Given the description of an element on the screen output the (x, y) to click on. 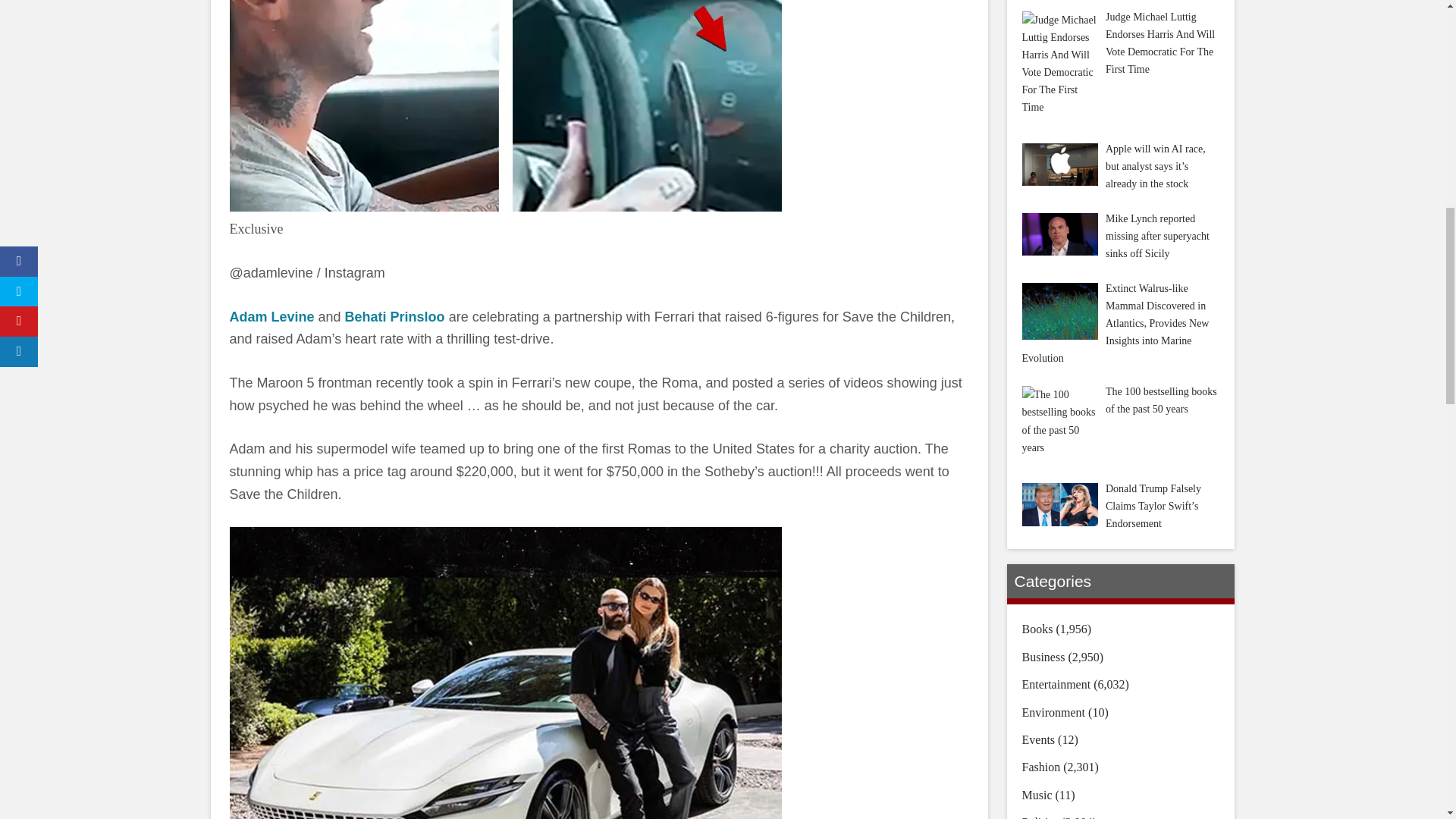
The 100 bestselling books of the past 50 years (1059, 420)
